Given the description of an element on the screen output the (x, y) to click on. 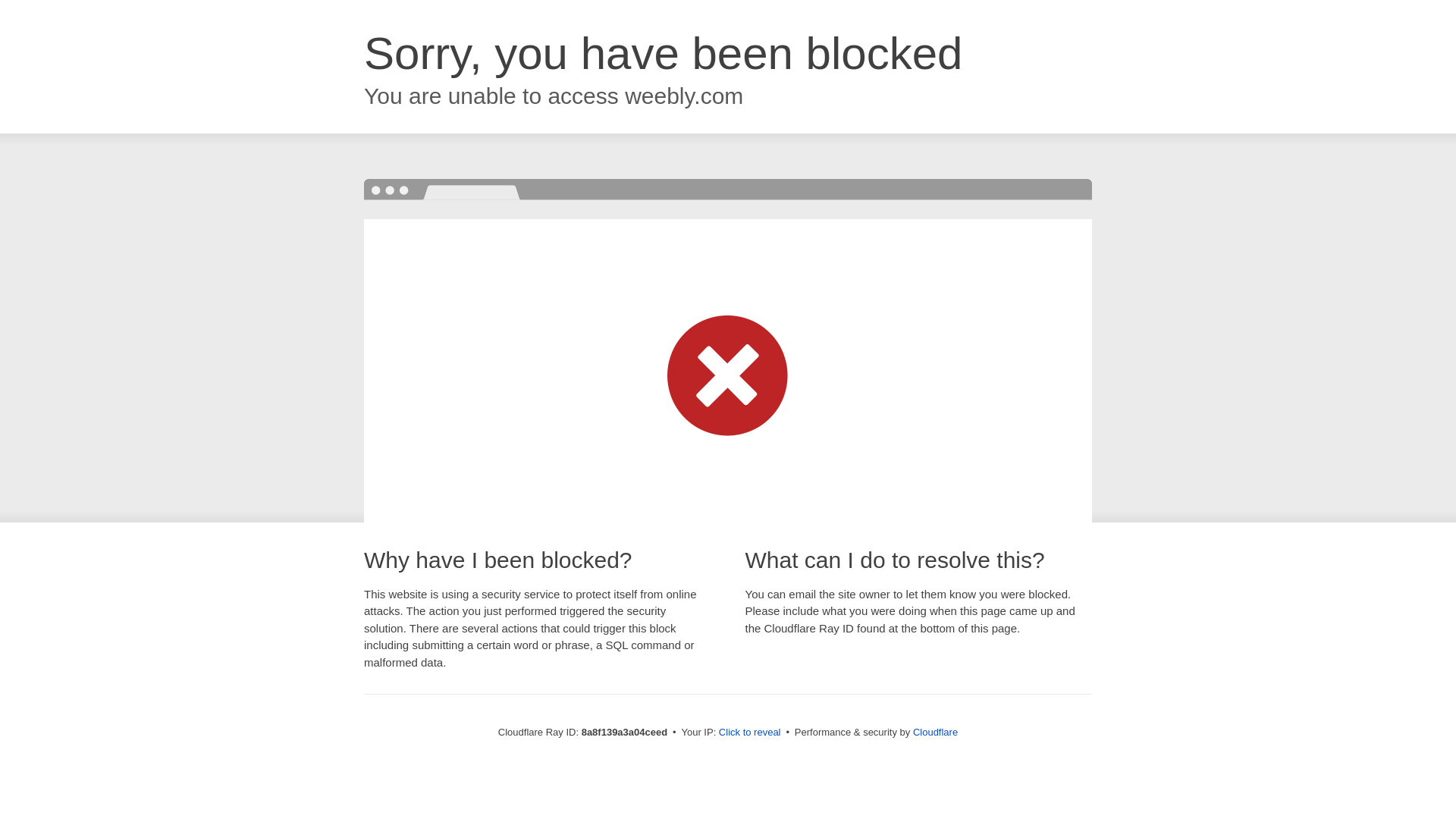
Cloudflare (935, 731)
Click to reveal (749, 732)
